Given the description of an element on the screen output the (x, y) to click on. 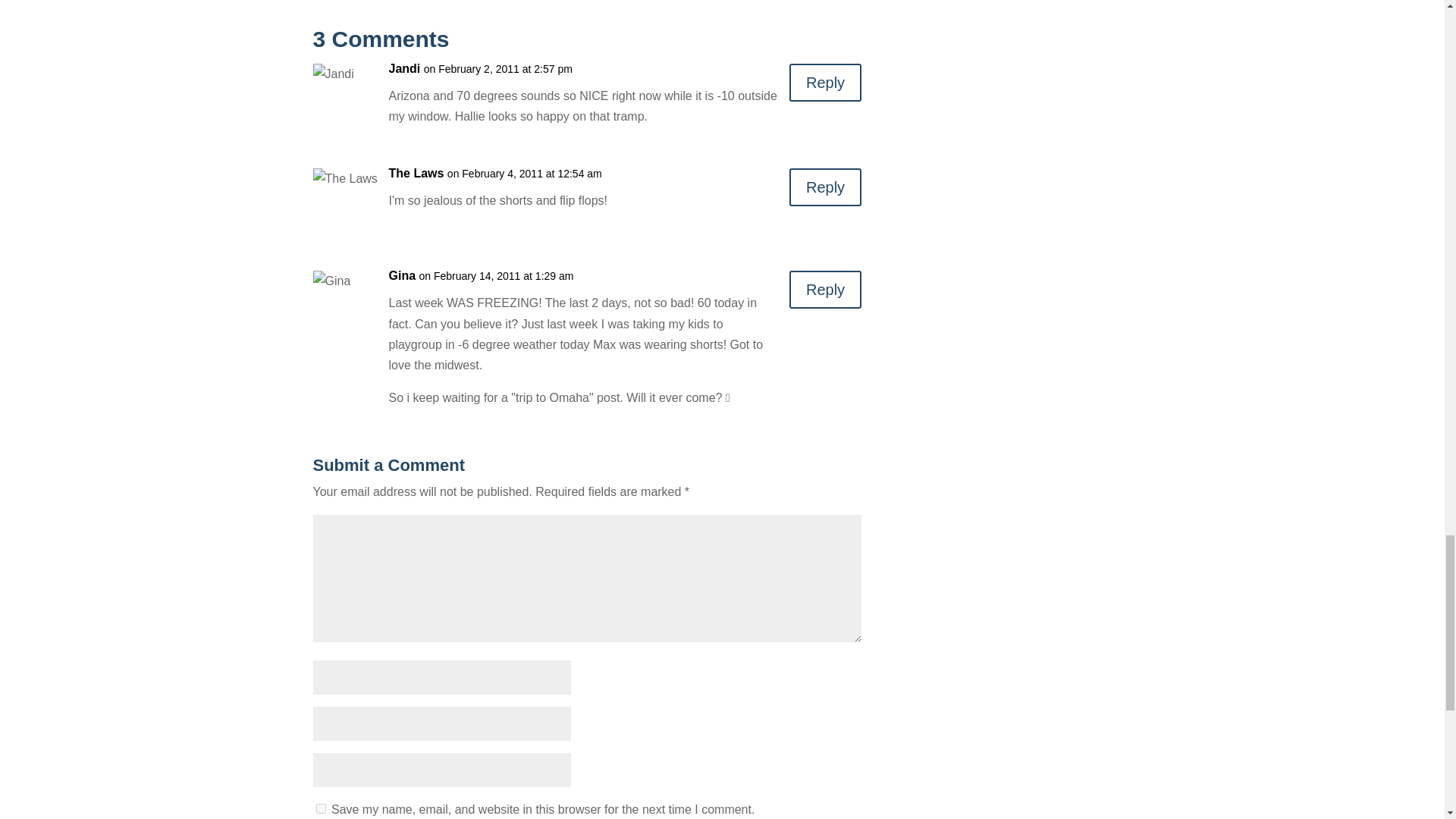
The Laws (416, 172)
yes (319, 808)
Gina (401, 275)
Jandi (404, 68)
Reply (825, 82)
Reply (825, 187)
Reply (825, 289)
